Given the description of an element on the screen output the (x, y) to click on. 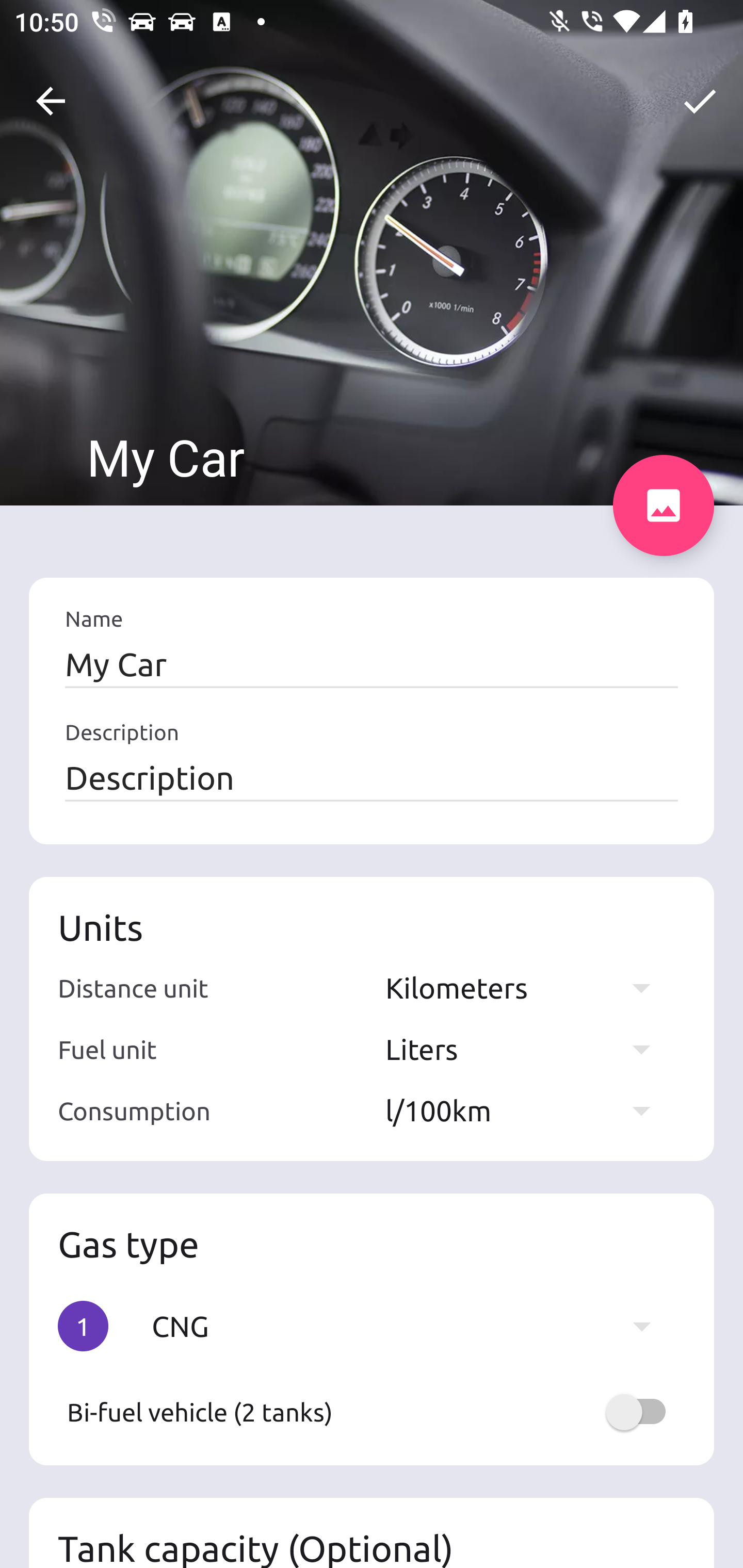
Navigate up (50, 101)
OK (699, 101)
My Car (371, 664)
Description (371, 777)
Kilometers (527, 987)
Liters (527, 1048)
l/100km (527, 1110)
CNG (411, 1325)
Bi-fuel vehicle (2 tanks) (371, 1411)
